Given the description of an element on the screen output the (x, y) to click on. 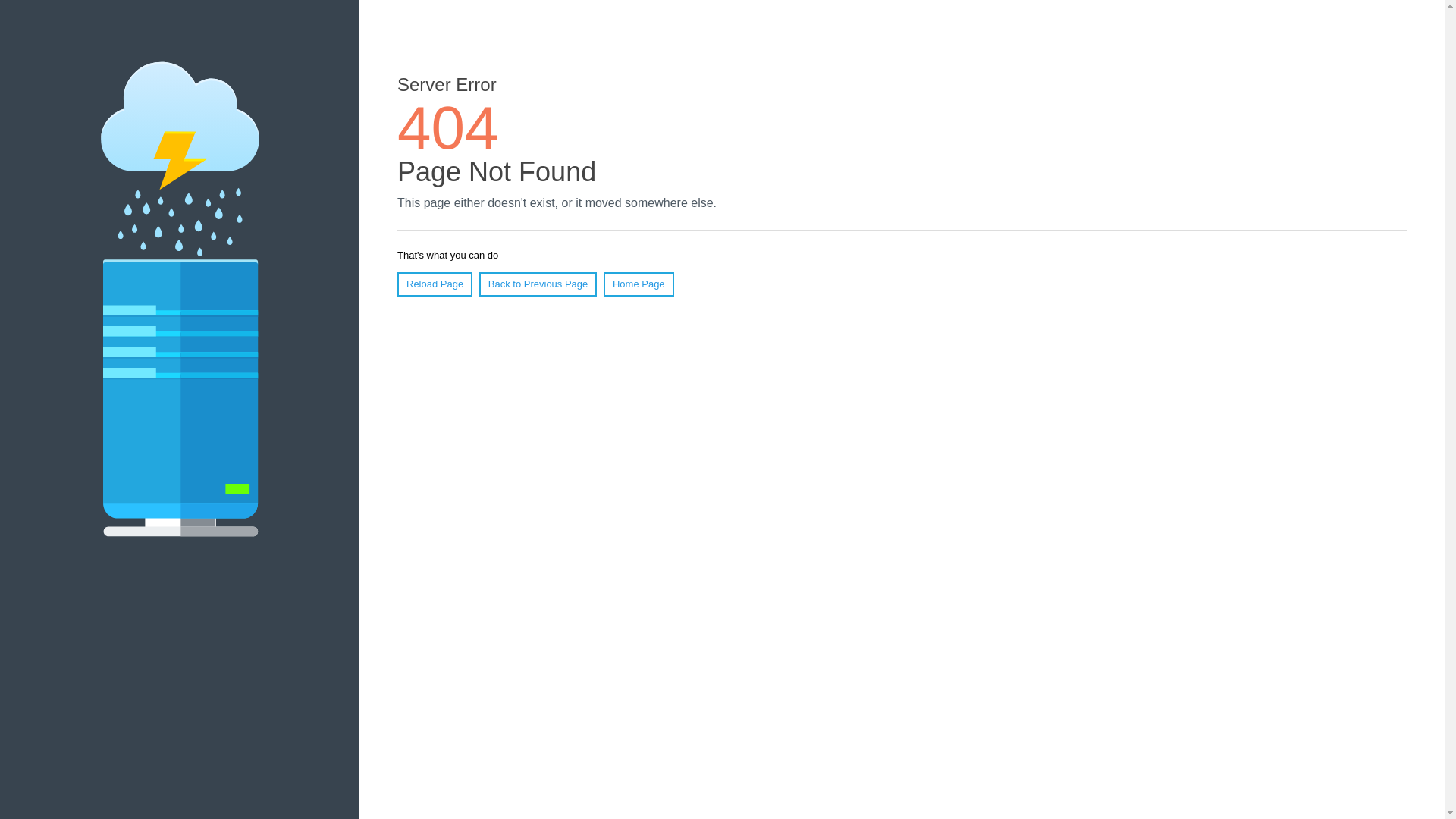
Home Page Element type: text (638, 284)
Back to Previous Page Element type: text (538, 284)
Reload Page Element type: text (434, 284)
